Given the description of an element on the screen output the (x, y) to click on. 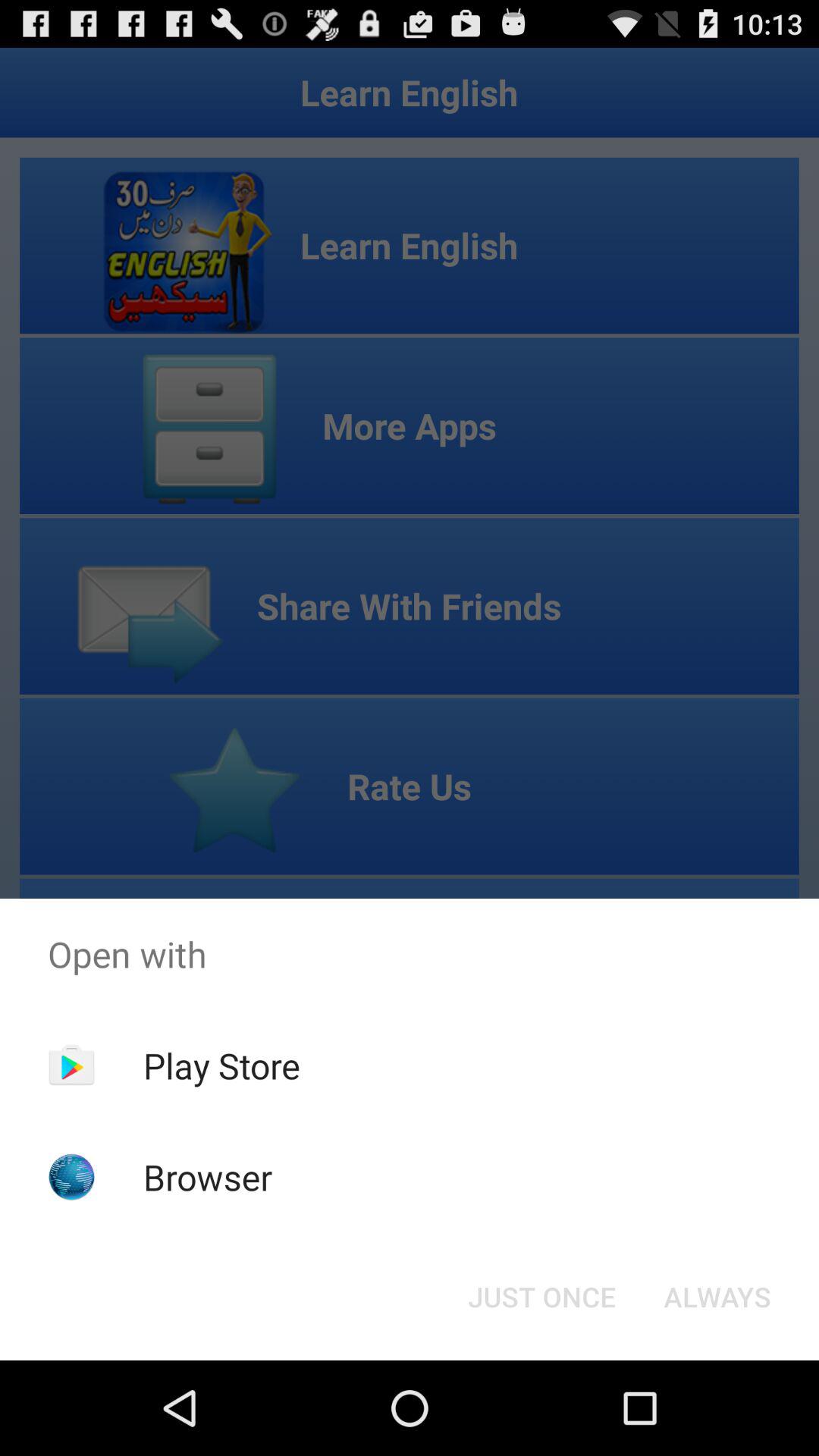
press the item below the open with app (717, 1296)
